Given the description of an element on the screen output the (x, y) to click on. 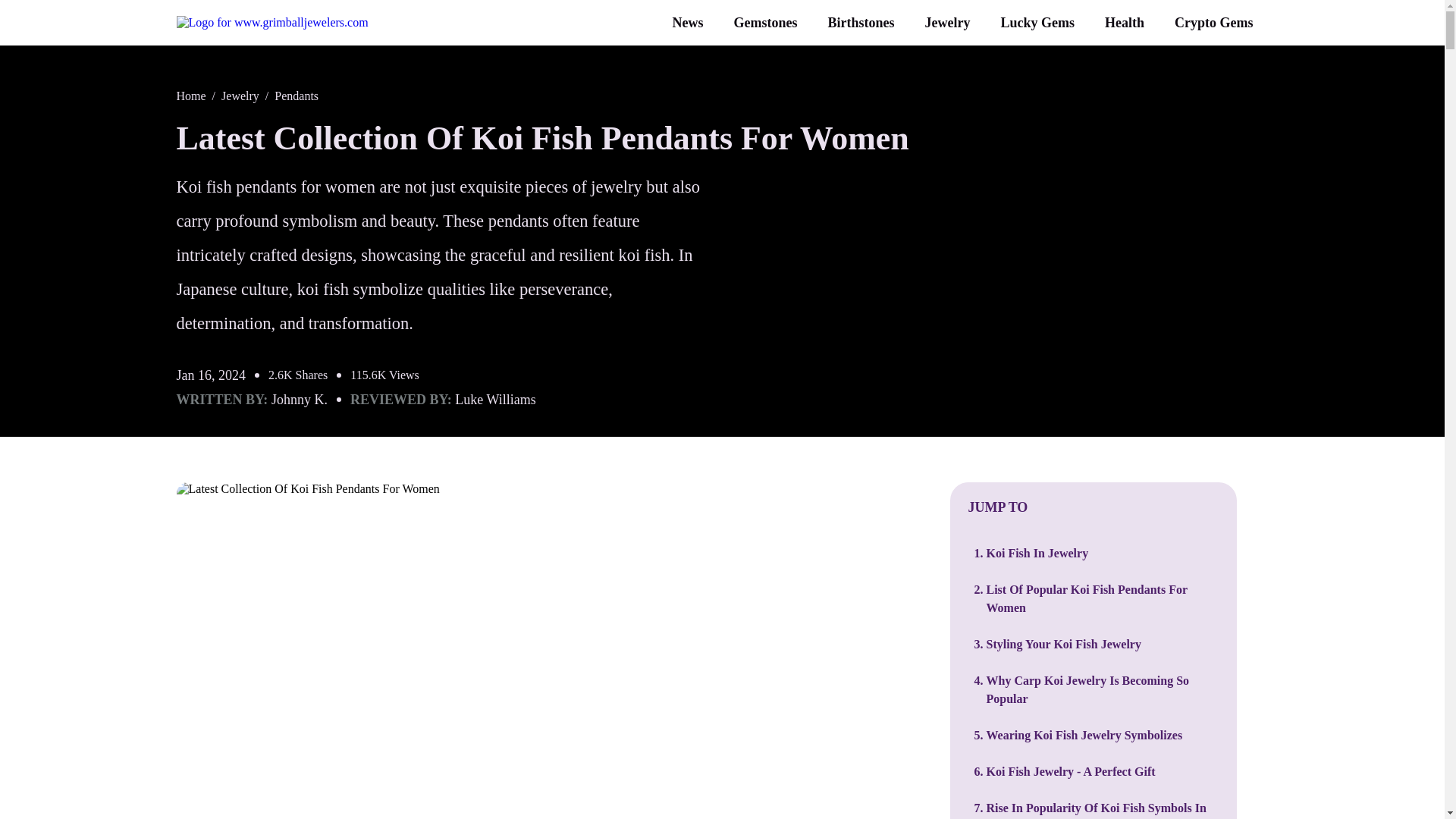
Last updated on Jan 16, 2024 (211, 375)
